Given the description of an element on the screen output the (x, y) to click on. 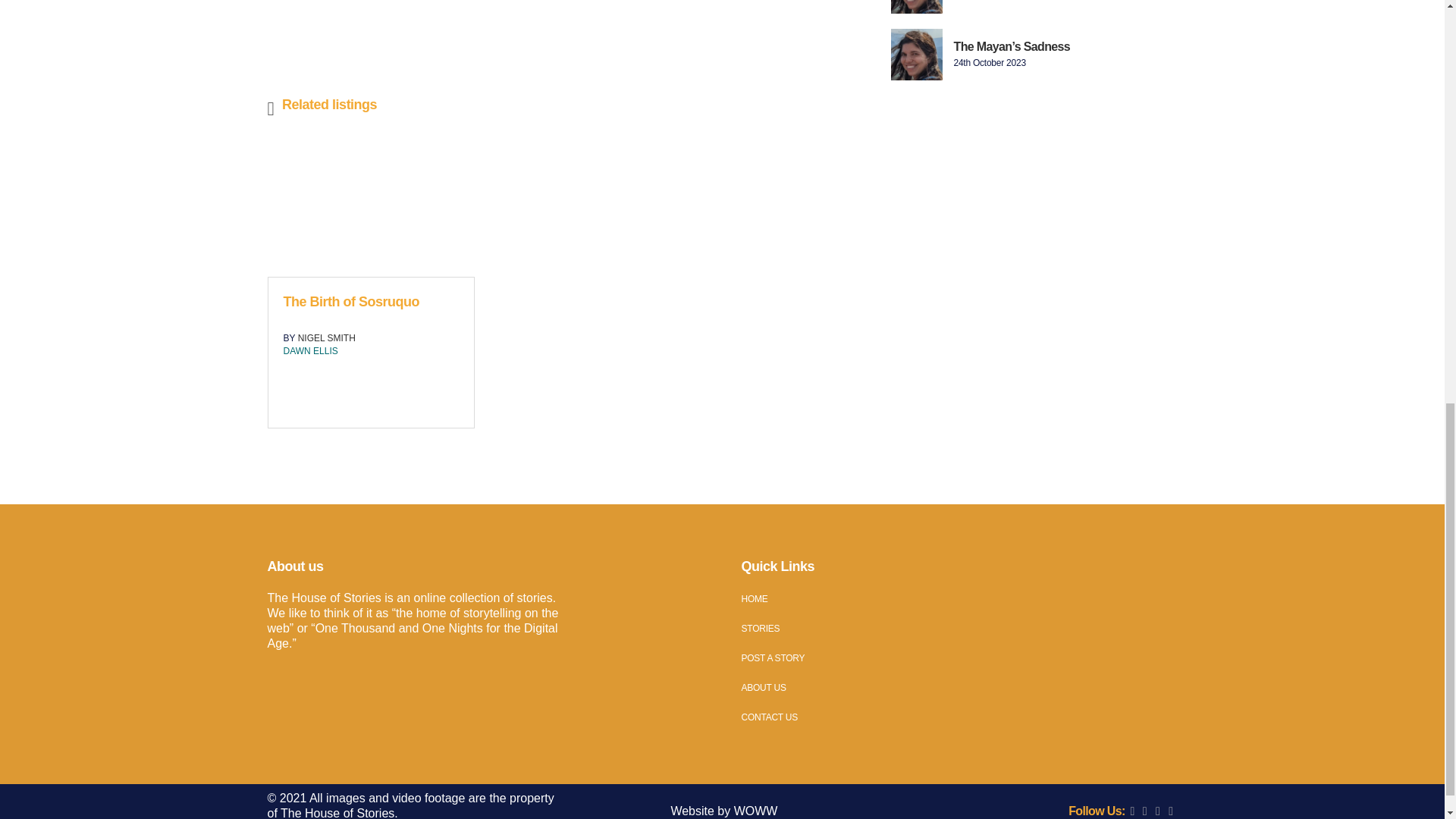
NIGEL SMITH (326, 337)
The Birth of Sosruquo (351, 301)
HOME (959, 598)
DAWN ELLIS (310, 350)
STORIES (959, 628)
